Given the description of an element on the screen output the (x, y) to click on. 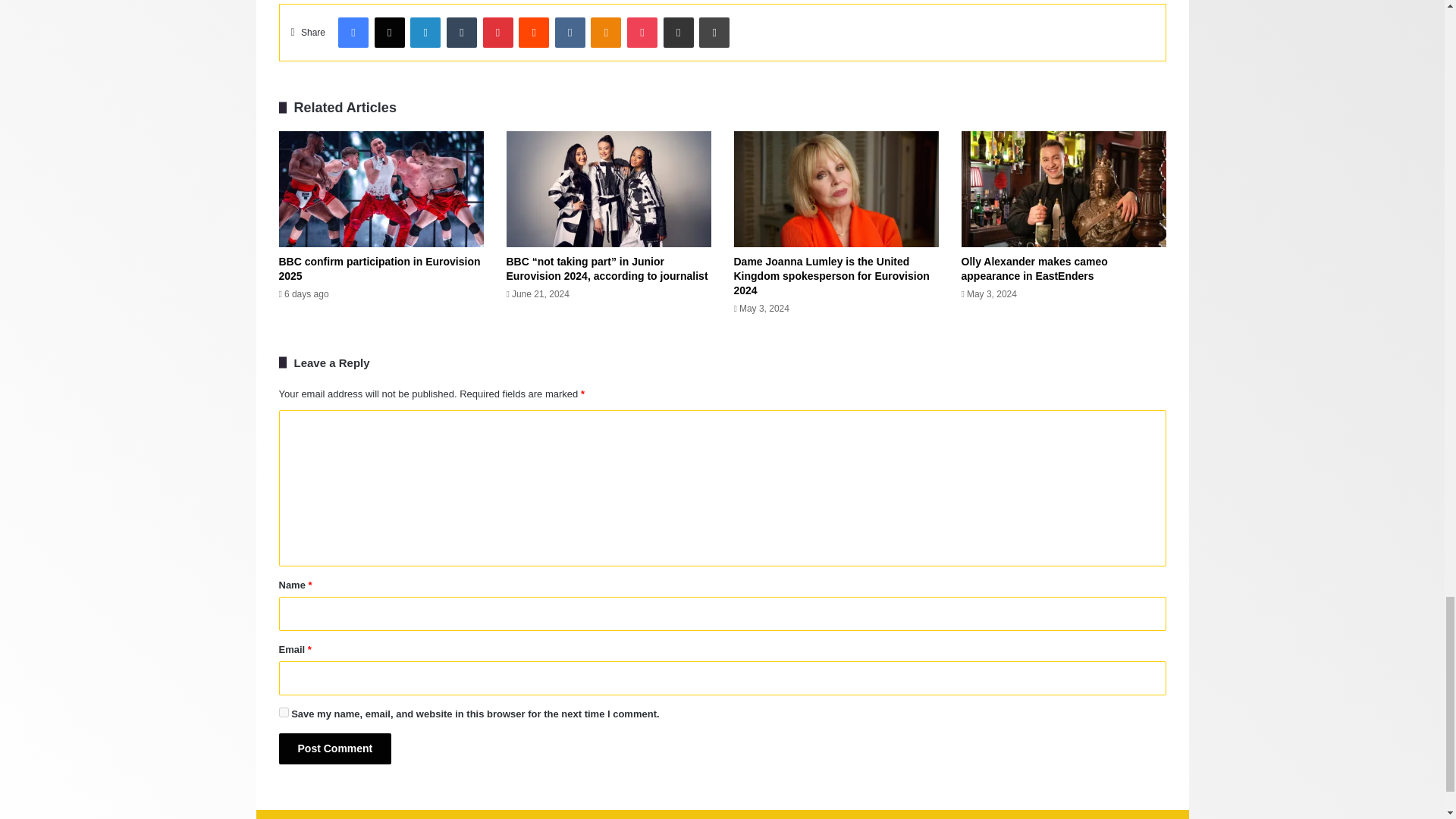
Post Comment (335, 748)
yes (283, 712)
